Given the description of an element on the screen output the (x, y) to click on. 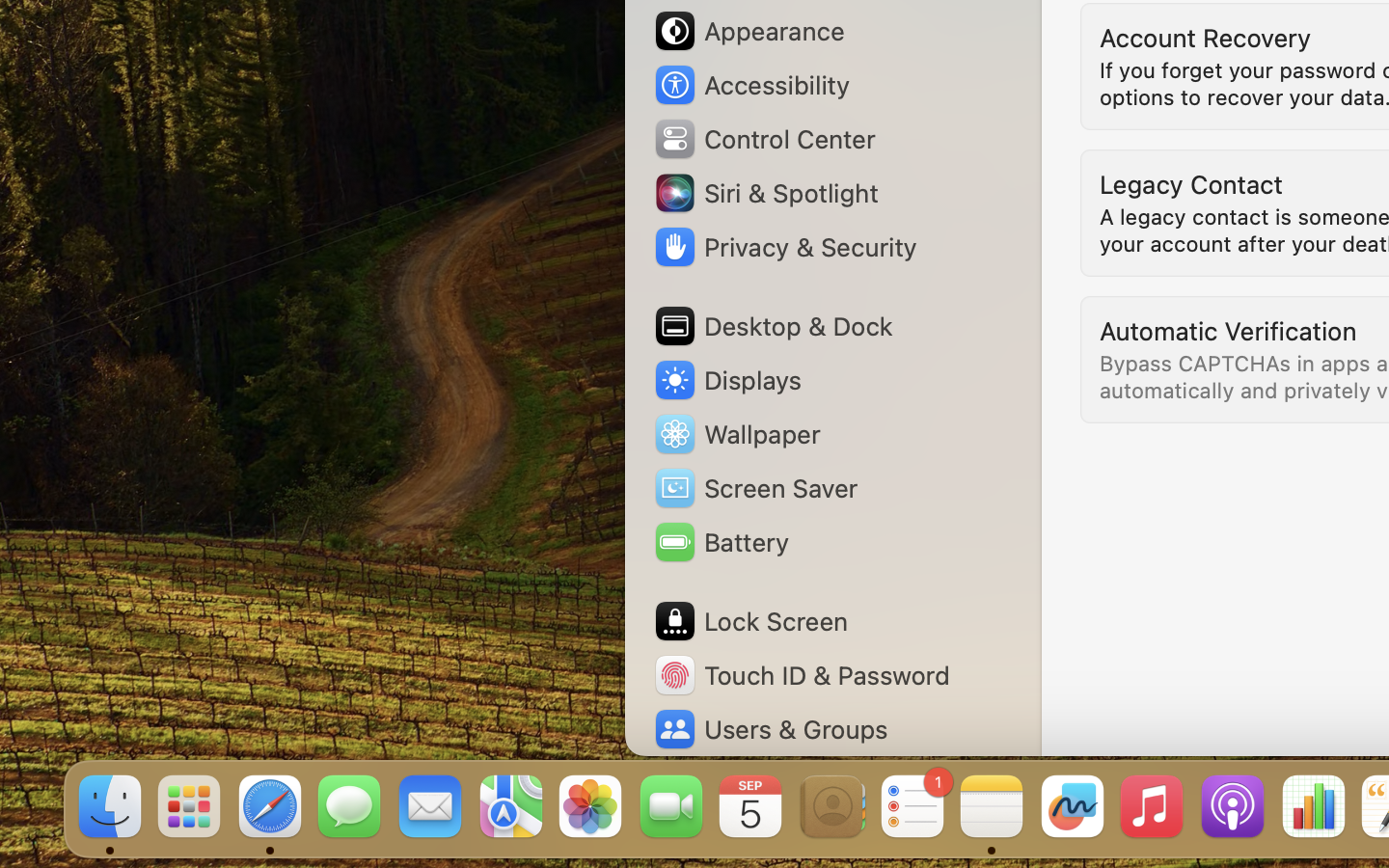
Users & Groups Element type: AXStaticText (769, 728)
Siri & Spotlight Element type: AXStaticText (764, 192)
Battery Element type: AXStaticText (720, 541)
Automatic Verification Element type: AXStaticText (1227, 329)
Control Center Element type: AXStaticText (763, 138)
